Given the description of an element on the screen output the (x, y) to click on. 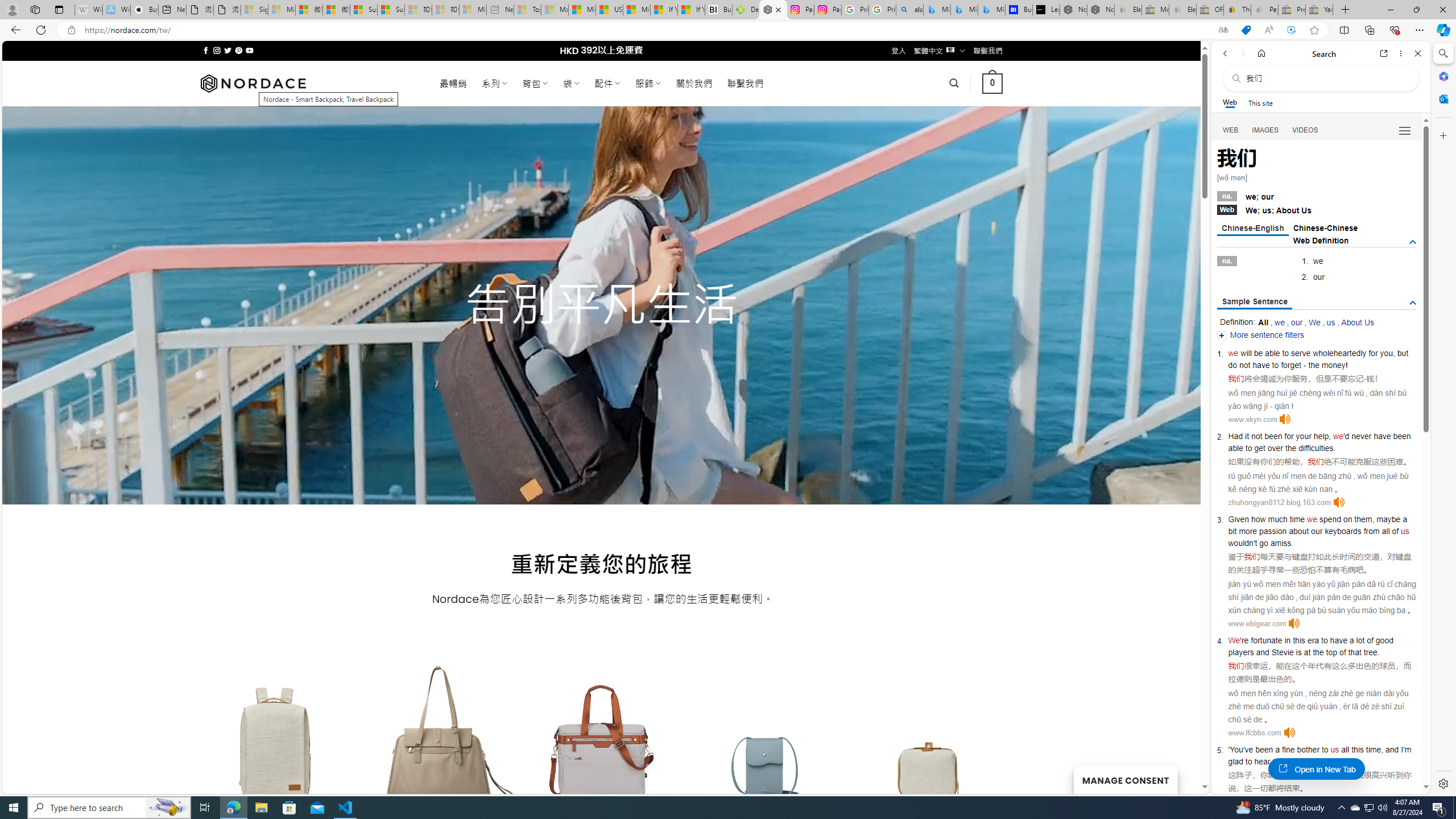
be (1258, 352)
time (1297, 519)
Microsoft account | Account Checkup - Sleeping (473, 9)
forget (1291, 364)
